Given the description of an element on the screen output the (x, y) to click on. 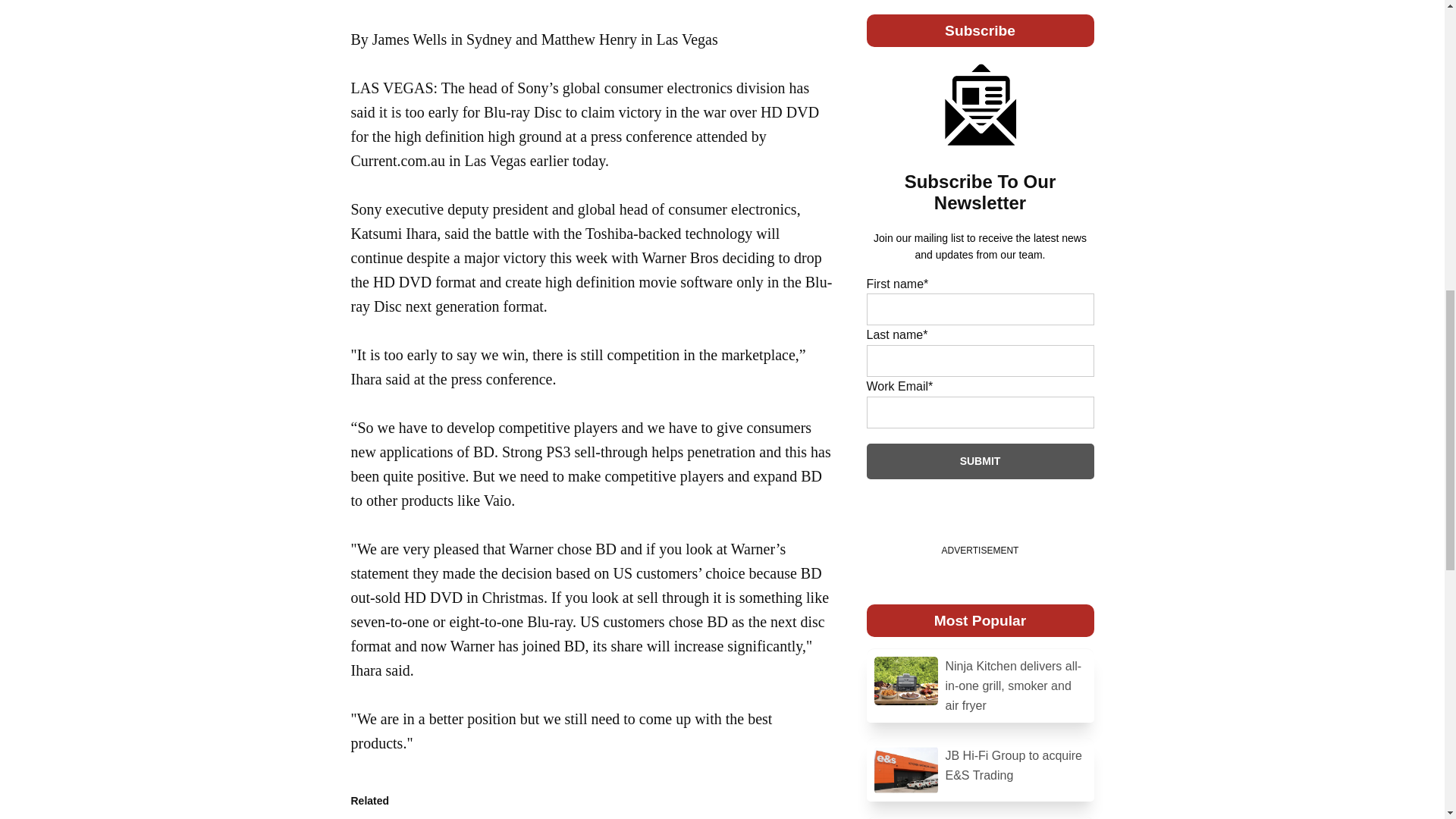
3rd party ad content (722, 45)
Submit (979, 461)
